Given the description of an element on the screen output the (x, y) to click on. 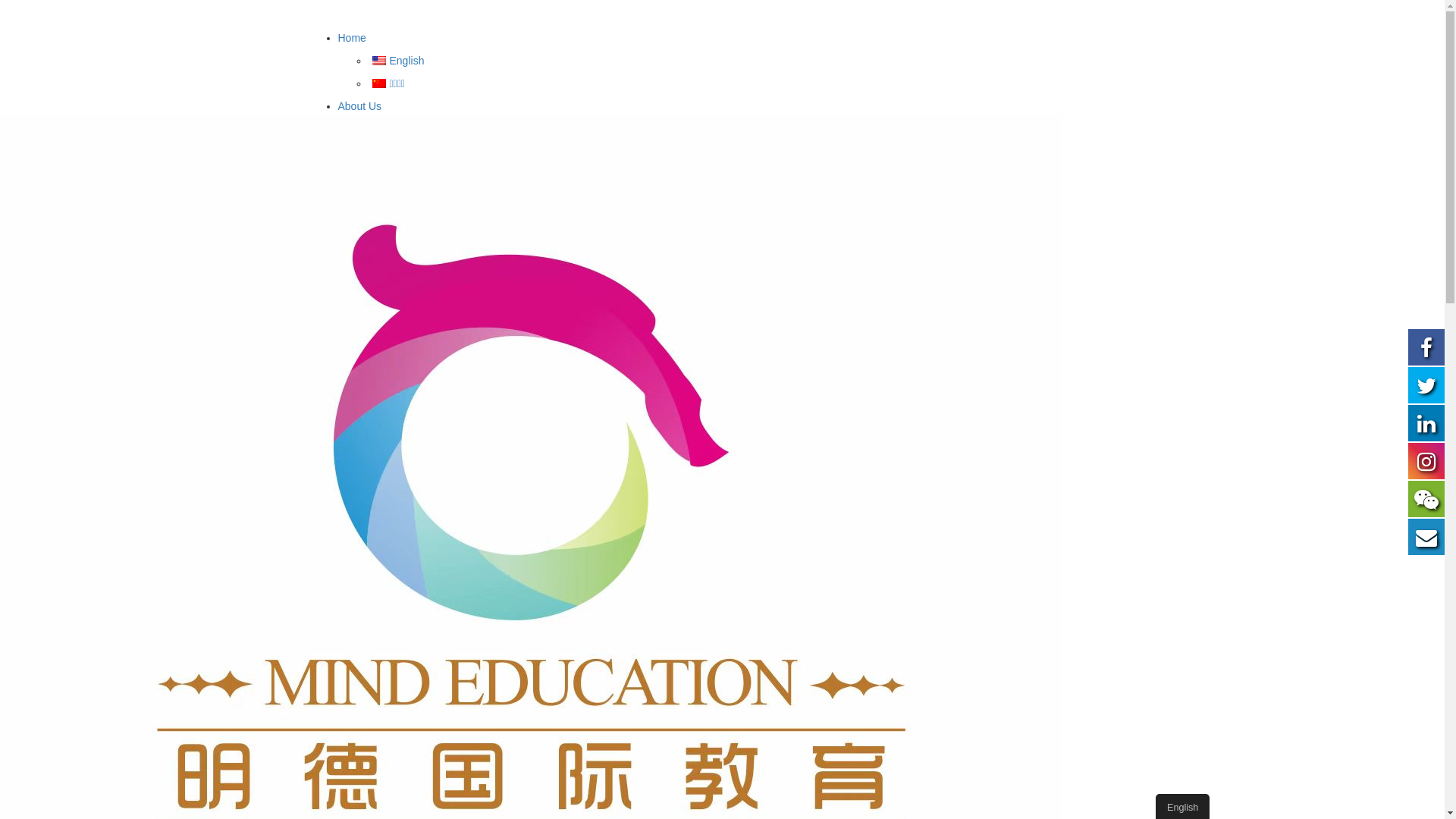
Home Element type: text (352, 37)
Application for English Programs Element type: text (456, 175)
IELTS Study Camp Element type: text (443, 677)
Sunshine Sports Camp Element type: text (453, 586)
University Students Cultural Exchange Camp Element type: text (504, 699)
English Element type: hover (378, 60)
Teacher Training Element type: text (407, 745)
TAFE and Vocational Institute Element type: text (437, 244)
Themed Study Camp Element type: text (418, 517)
Australia Incomparable International Study Tour Element type: text (510, 358)
About Us Element type: text (360, 106)
Learn English Element type: text (370, 790)
Study Abroad Element type: text (400, 426)
Undergraduate and Postgraduate Study Element type: text (462, 290)
Family Camp Element type: text (399, 449)
English Element type: text (396, 60)
Study in Australia Element type: text (379, 199)
Application for Study Tours/Study Abroad Element type: text (479, 153)
Happy Family Camp Element type: text (446, 495)
Youth Football Camp Element type: text (447, 608)
Primary and Secondary School Element type: text (441, 222)
Science, Technology and Sports Camp Element type: text (489, 540)
Education Delegation Visit Element type: text (430, 768)
Apply Now Element type: text (381, 128)
Preparatory and Pathway Program Element type: text (450, 267)
Short-term Study Tour Element type: text (420, 335)
Study Tour Element type: text (363, 313)
Australian Cultural Experience Camp Element type: text (485, 404)
Australian International Music Festival Element type: text (487, 563)
Professional Visit Element type: text (378, 722)
Uni Study Camp Element type: text (406, 654)
Three Cities Australian School Study Tour Element type: text (496, 381)
Meet-up Future Career Camp Element type: text (468, 631)
Kindergarten College: Your first step to the greater world! Element type: text (532, 472)
